Given the description of an element on the screen output the (x, y) to click on. 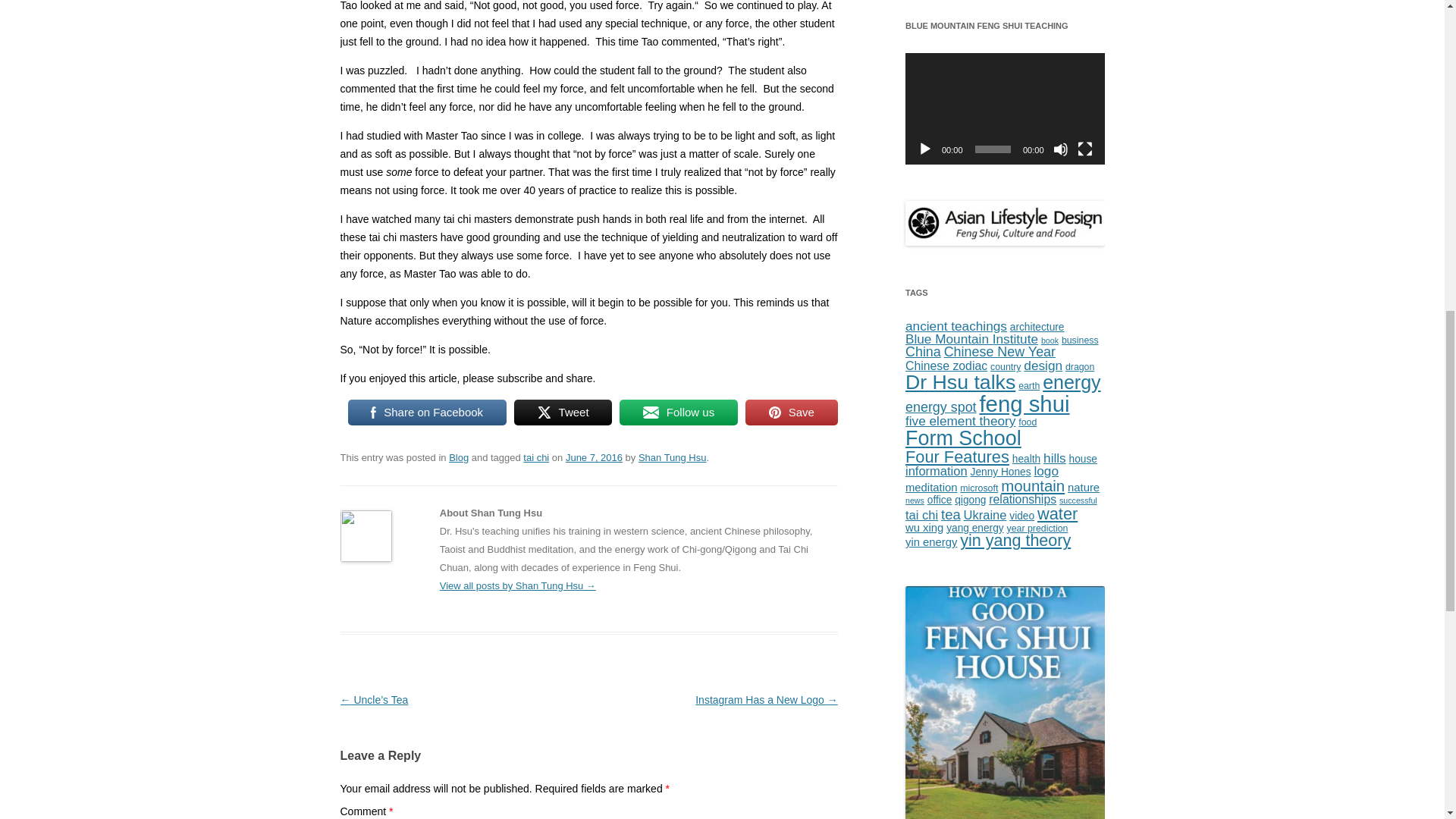
Mute (1059, 149)
Tweet (562, 412)
View all posts by Shan Tung Hsu (672, 457)
3:00 am (594, 457)
Shan Tung Hsu (672, 457)
Play (925, 149)
Save (791, 412)
tai chi (535, 457)
Follow us (679, 412)
June 7, 2016 (594, 457)
Share on Facebook (426, 412)
Blog (458, 457)
